Given the description of an element on the screen output the (x, y) to click on. 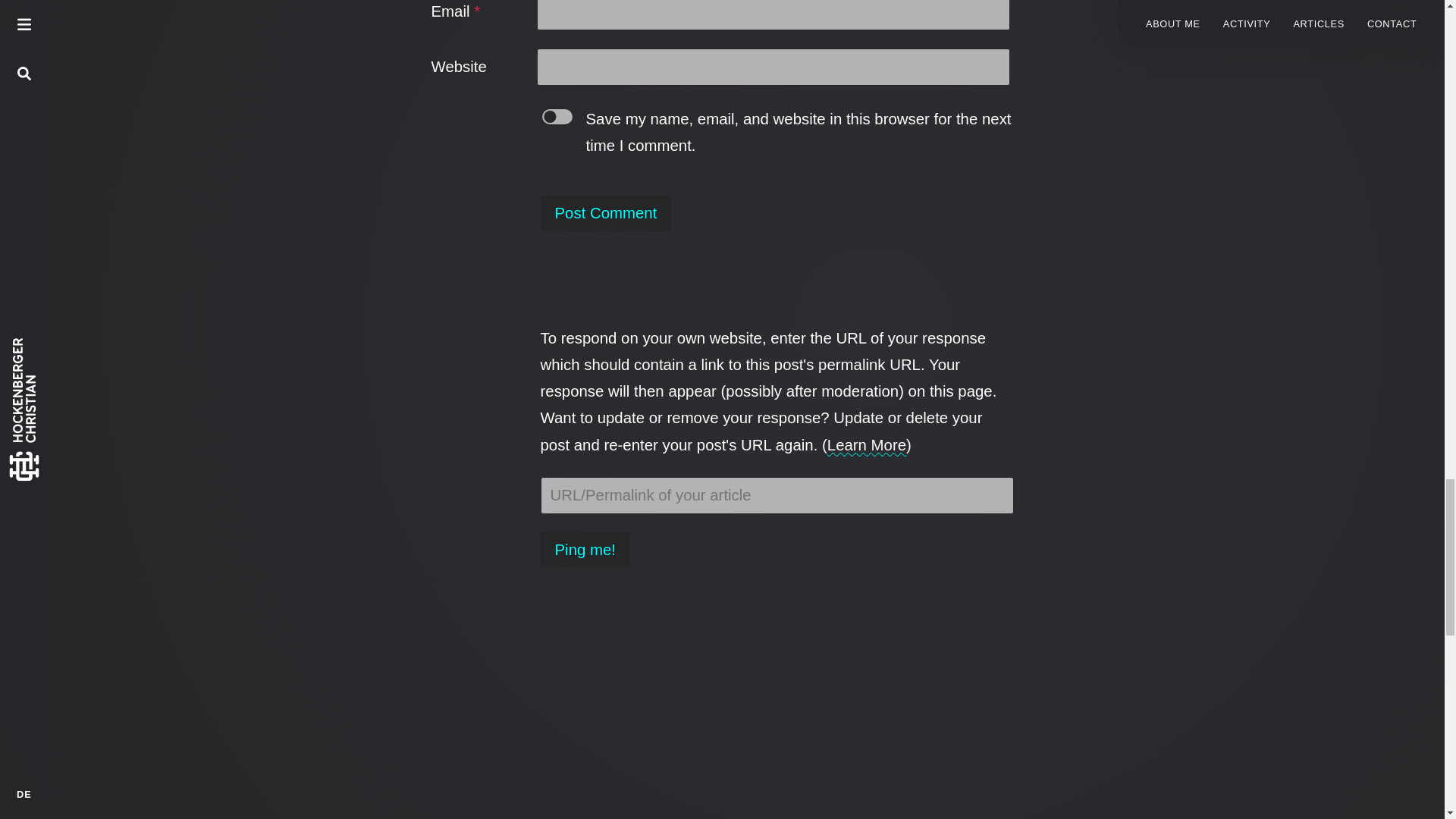
Ping me! (584, 549)
Ping me! (584, 549)
Post Comment (605, 212)
yes (556, 116)
Post Comment (605, 212)
Learn More (866, 444)
